Given the description of an element on the screen output the (x, y) to click on. 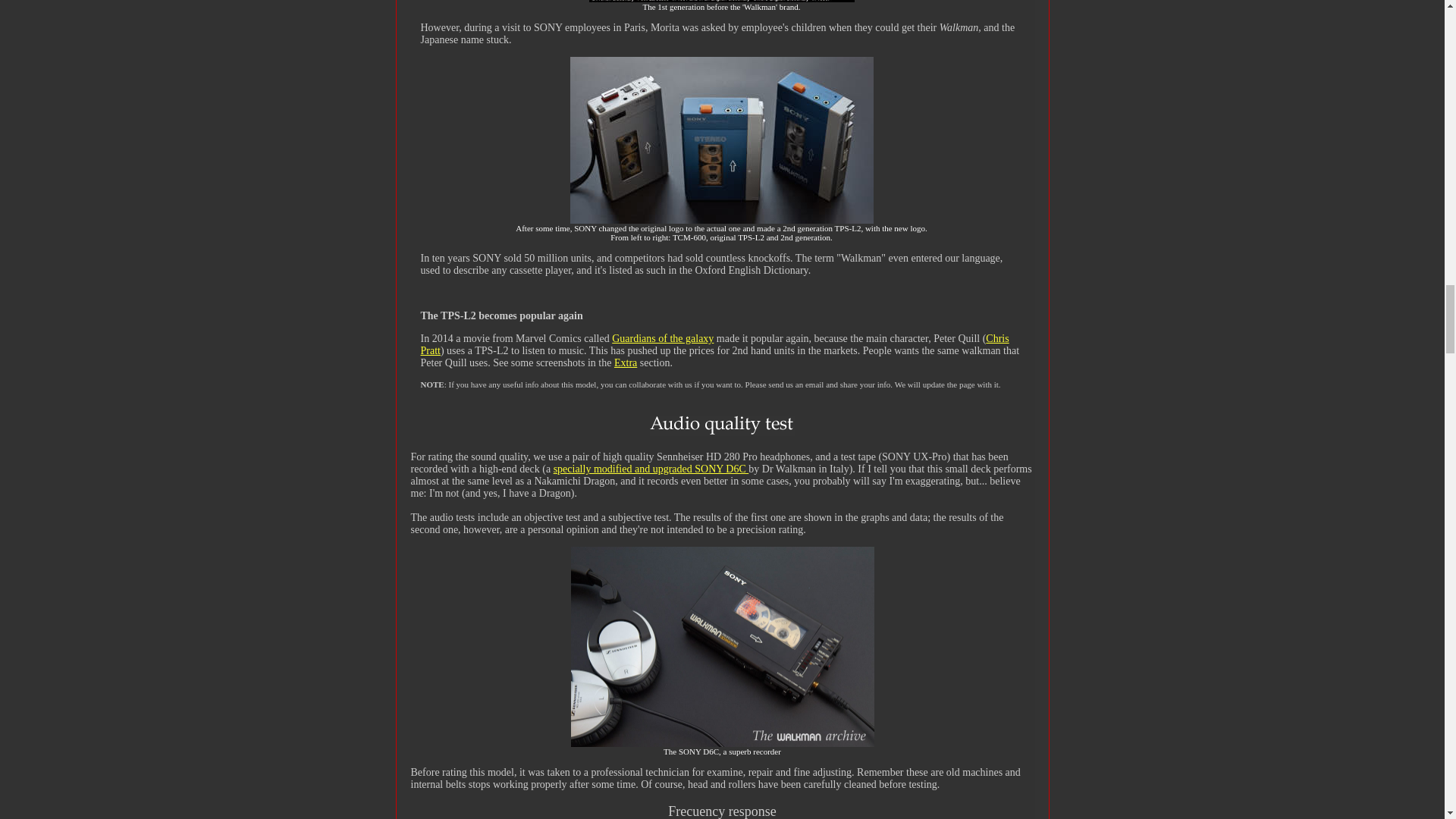
Chris Pratt (714, 344)
The 1st generation name before 'Walkman'. (720, 2)
The 1st generation name before 'Walkman'. (721, 220)
The SONY D6C, a superb recorder (721, 743)
specially modified and upgraded SONY D6C (651, 469)
Extra (625, 362)
Guardians of the galaxy (662, 337)
